Given the description of an element on the screen output the (x, y) to click on. 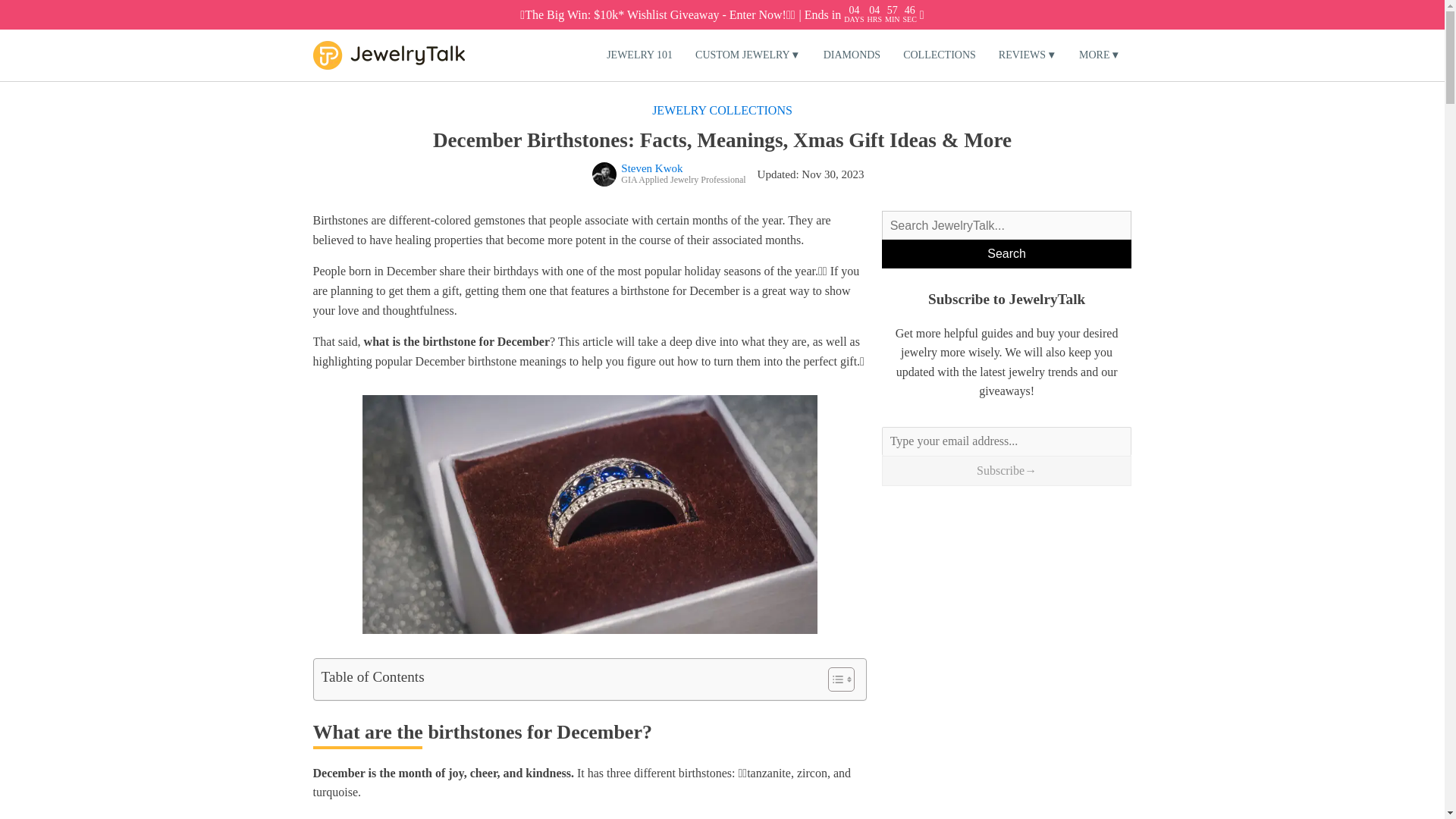
Steven Kwok (668, 174)
REVIEWS (1027, 55)
MORE (1099, 55)
JEWELRY COLLECTIONS (722, 110)
CUSTOM JEWELRY (748, 55)
Search (1007, 253)
DIAMONDS (851, 55)
JEWELRY 101 (639, 55)
COLLECTIONS (939, 55)
